Given the description of an element on the screen output the (x, y) to click on. 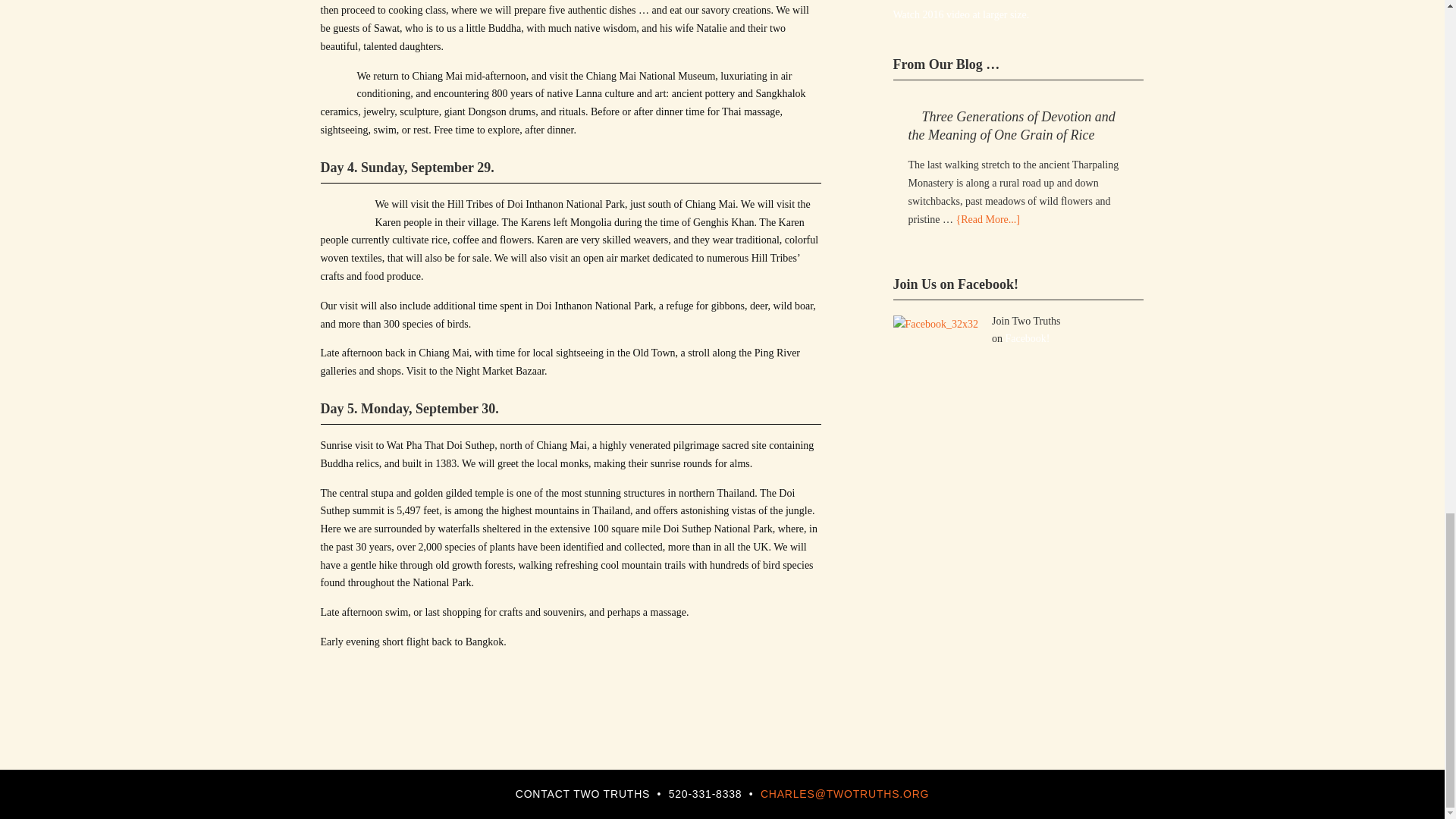
Bhutan Video (961, 14)
